Given the description of an element on the screen output the (x, y) to click on. 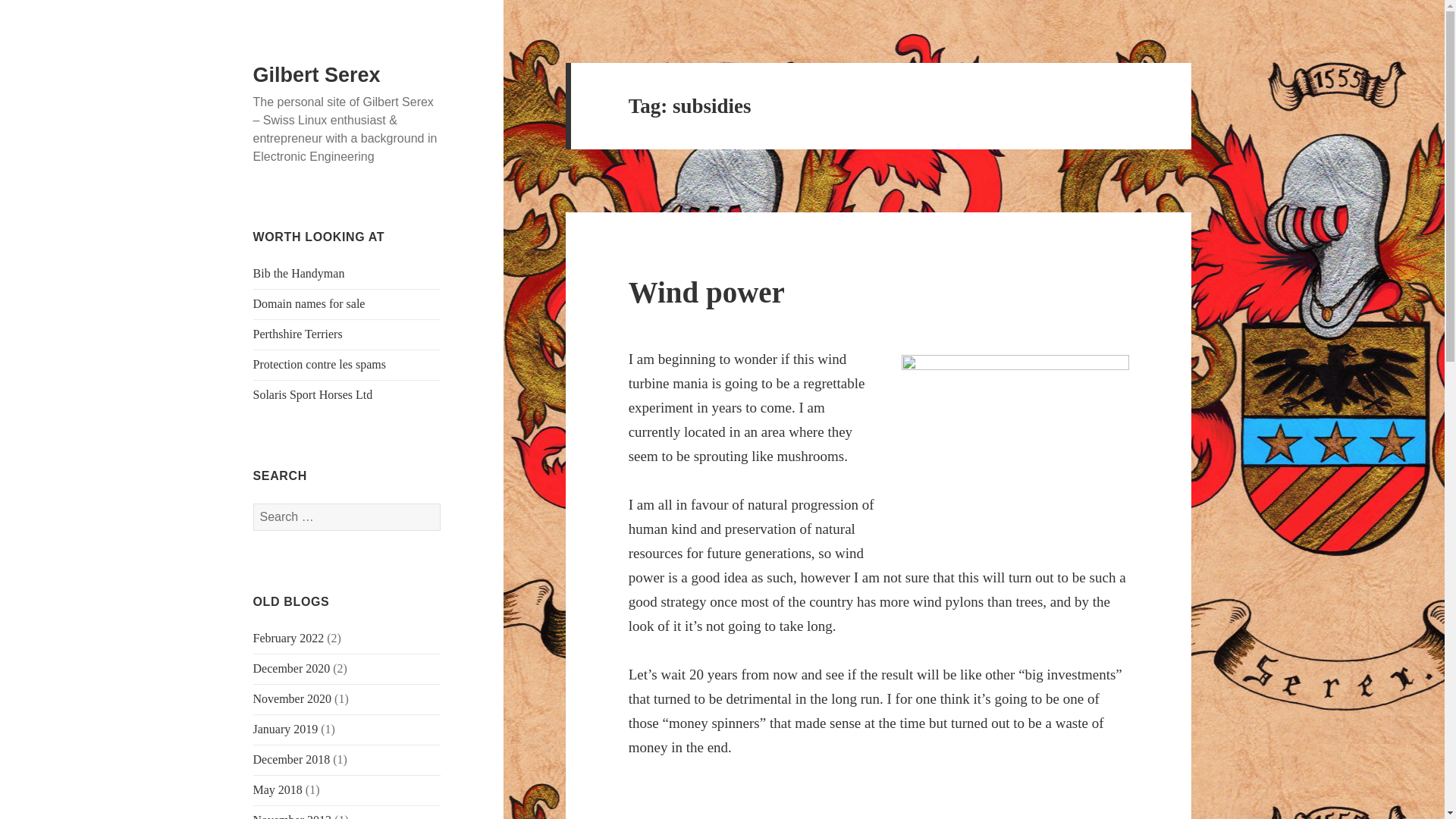
A selection of domains I am currently offering for sale (309, 303)
protection contre les spams (320, 364)
Perthshire Terriers (297, 333)
November 2020 (292, 698)
Breeder of uniquely coloured Terriers (297, 333)
Solaris Sport Horses (312, 394)
January 2019 (285, 728)
November 2013 (292, 816)
Bib is your Handyman througout central Scotland (299, 273)
February 2022 (288, 637)
Protection contre les spams (320, 364)
Solaris Sport Horses Ltd (312, 394)
December 2020 (291, 667)
